Given the description of an element on the screen output the (x, y) to click on. 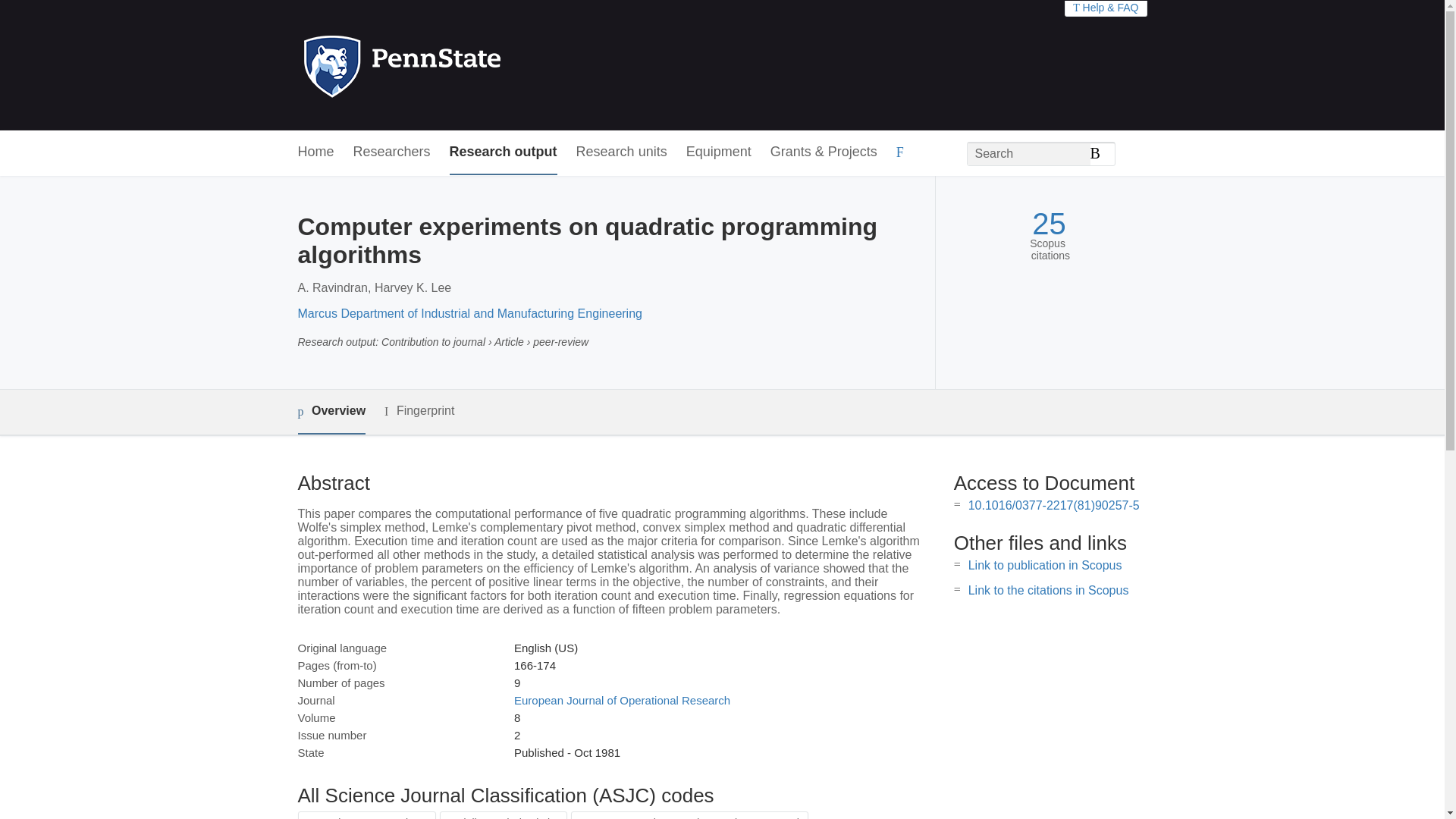
Research output (503, 152)
Overview (331, 411)
European Journal of Operational Research (621, 699)
Fingerprint (419, 411)
Equipment (718, 152)
Research units (621, 152)
25 (1048, 223)
Link to the citations in Scopus (1048, 590)
